Given the description of an element on the screen output the (x, y) to click on. 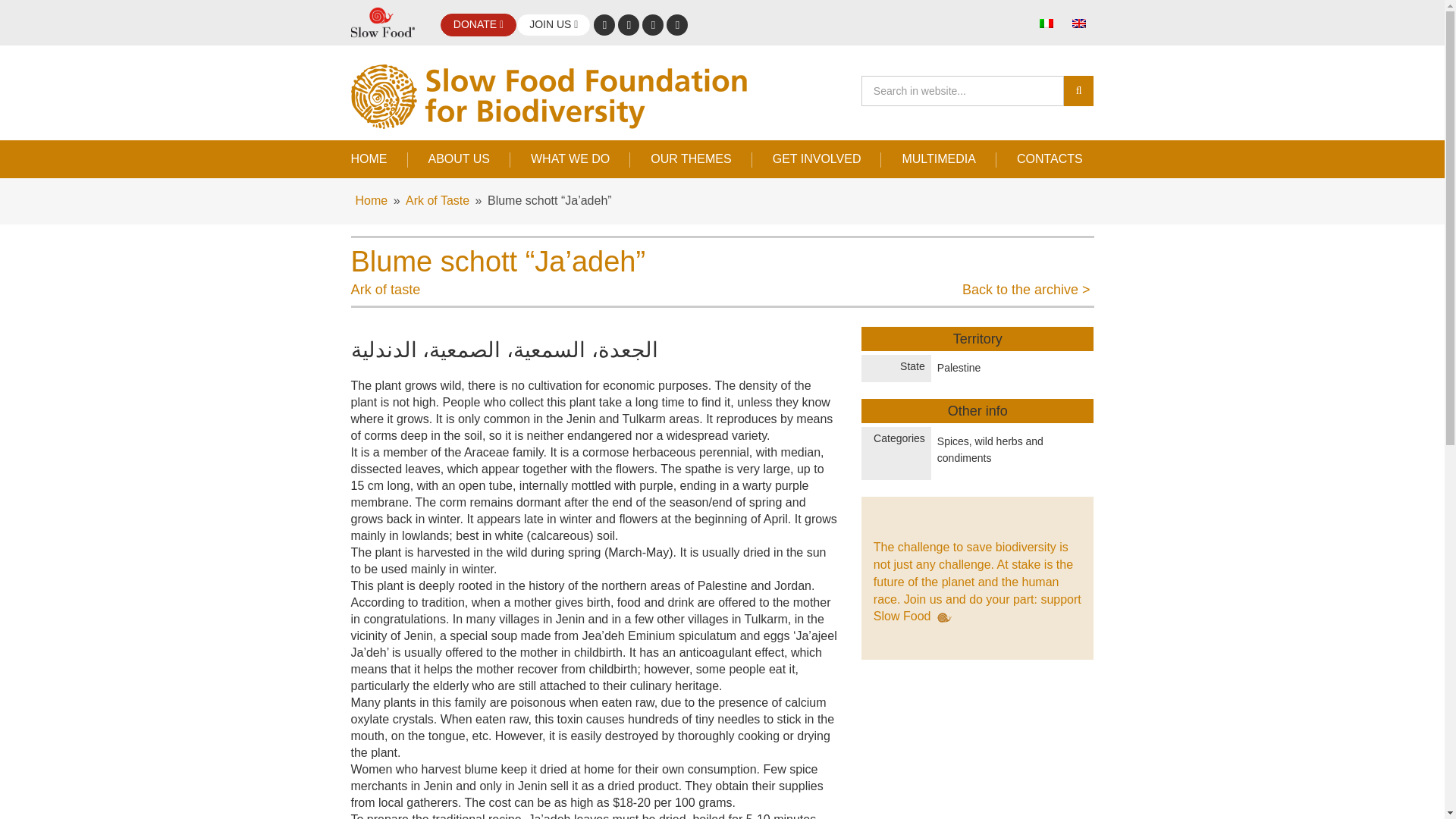
WHAT WE DO (570, 158)
Slow Food Foundation (562, 96)
OUR THEMES (690, 158)
GET INVOLVED (817, 158)
Slow Food (382, 22)
ABOUT US (459, 158)
JOIN US (553, 24)
HOME (378, 158)
MULTIMEDIA (937, 158)
DONATE (477, 24)
